Given the description of an element on the screen output the (x, y) to click on. 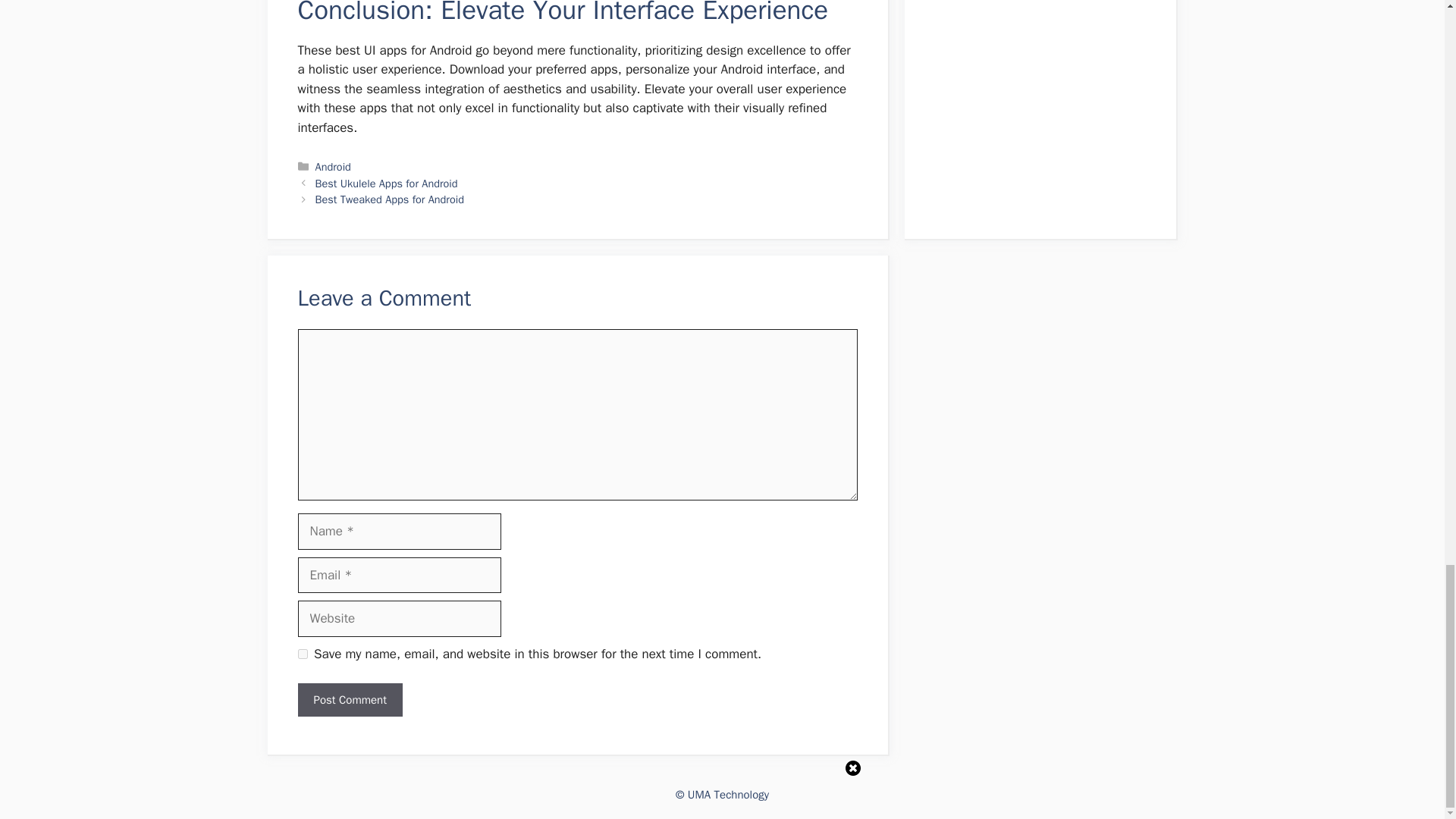
Best Tweaked Apps for Android (389, 199)
Post Comment (349, 700)
yes (302, 654)
Post Comment (349, 700)
Best Ukulele Apps for Android (386, 183)
Android (332, 166)
